Given the description of an element on the screen output the (x, y) to click on. 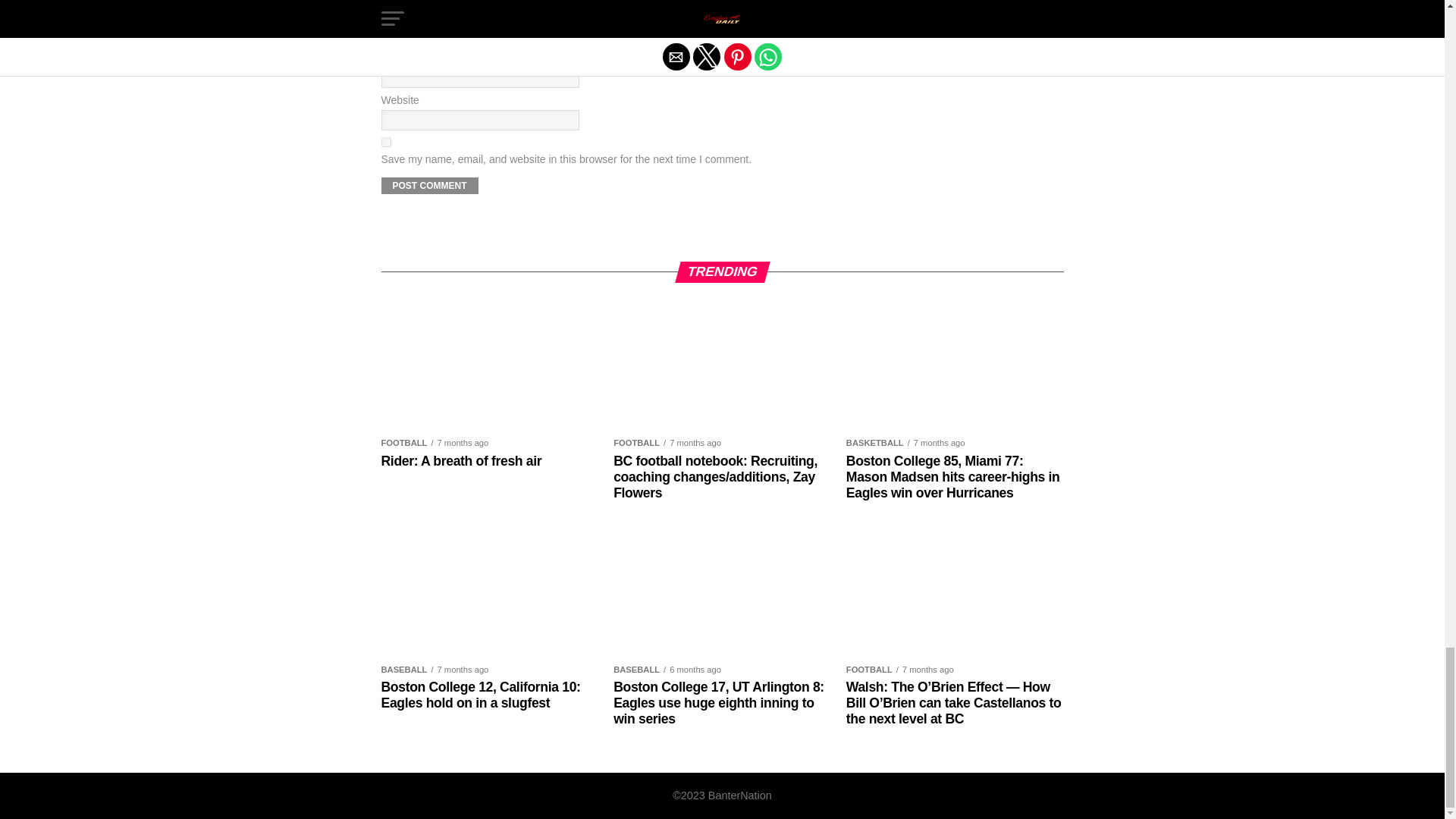
Post Comment (428, 185)
Post Comment (428, 185)
yes (385, 142)
